Given the description of an element on the screen output the (x, y) to click on. 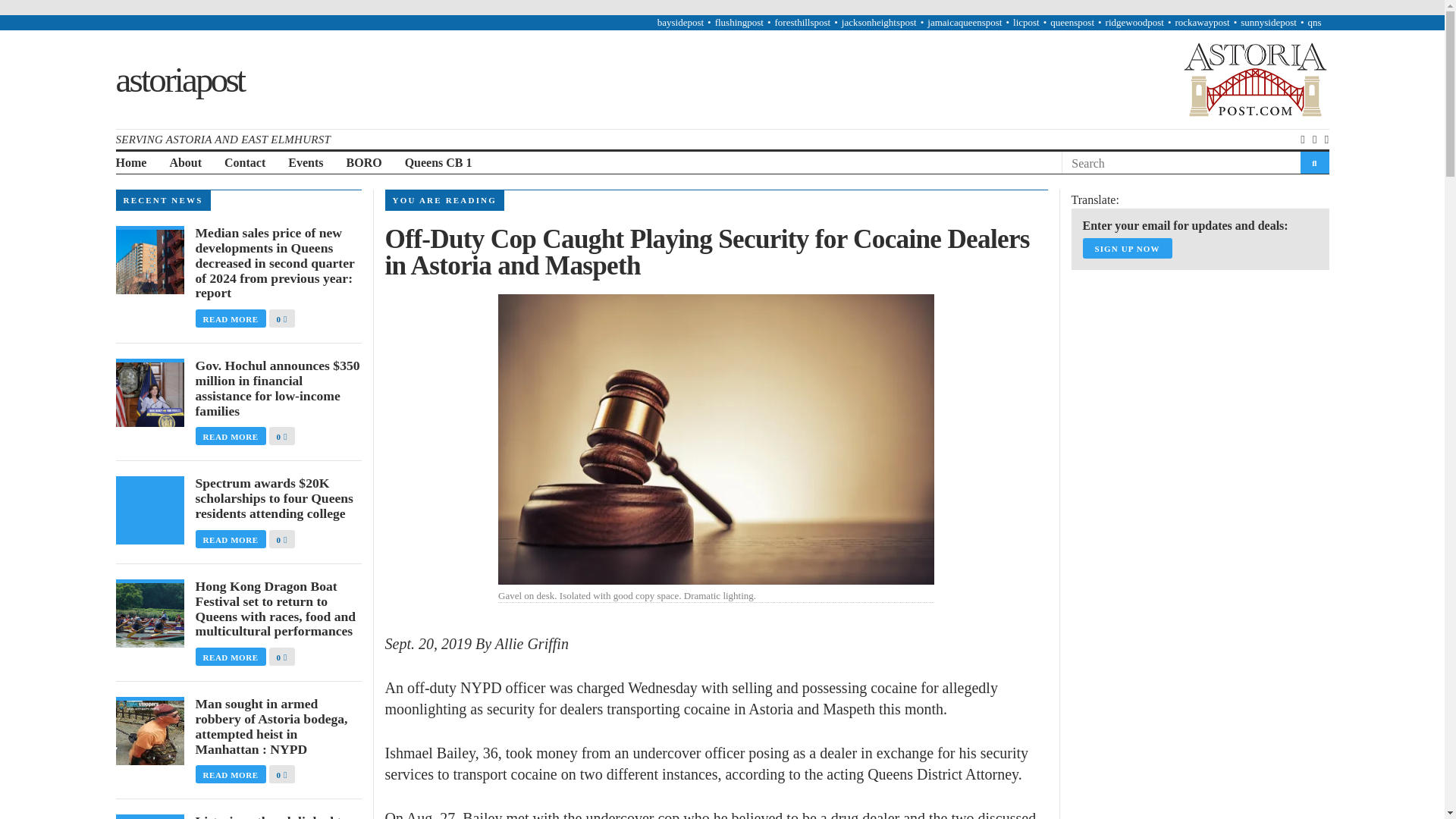
About (185, 163)
Contact (244, 163)
qns (1313, 21)
foresthillspost (802, 21)
astoriapost (179, 78)
baysidepost (680, 21)
Queens CB 1 (437, 163)
ridgewoodpost (1134, 21)
Events (305, 163)
jamaicaqueenspost (964, 21)
rockawaypost (1201, 21)
Home (131, 163)
licpost (1026, 21)
flushingpost (738, 21)
queenspost (1071, 21)
